Given the description of an element on the screen output the (x, y) to click on. 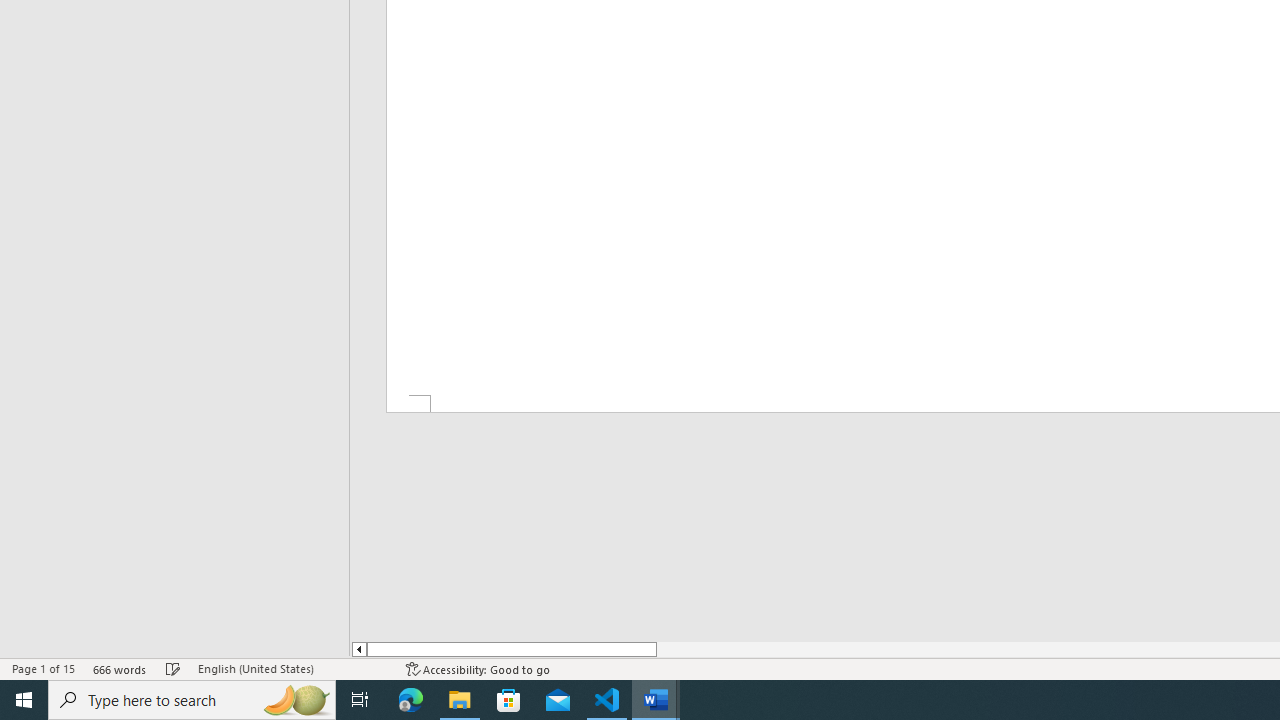
Word Count 666 words (119, 668)
Column left (358, 649)
Accessibility Checker Accessibility: Good to go (478, 668)
Page Number Page 1 of 15 (43, 668)
Language English (United States) (292, 668)
Spelling and Grammar Check Checking (173, 668)
